Given the description of an element on the screen output the (x, y) to click on. 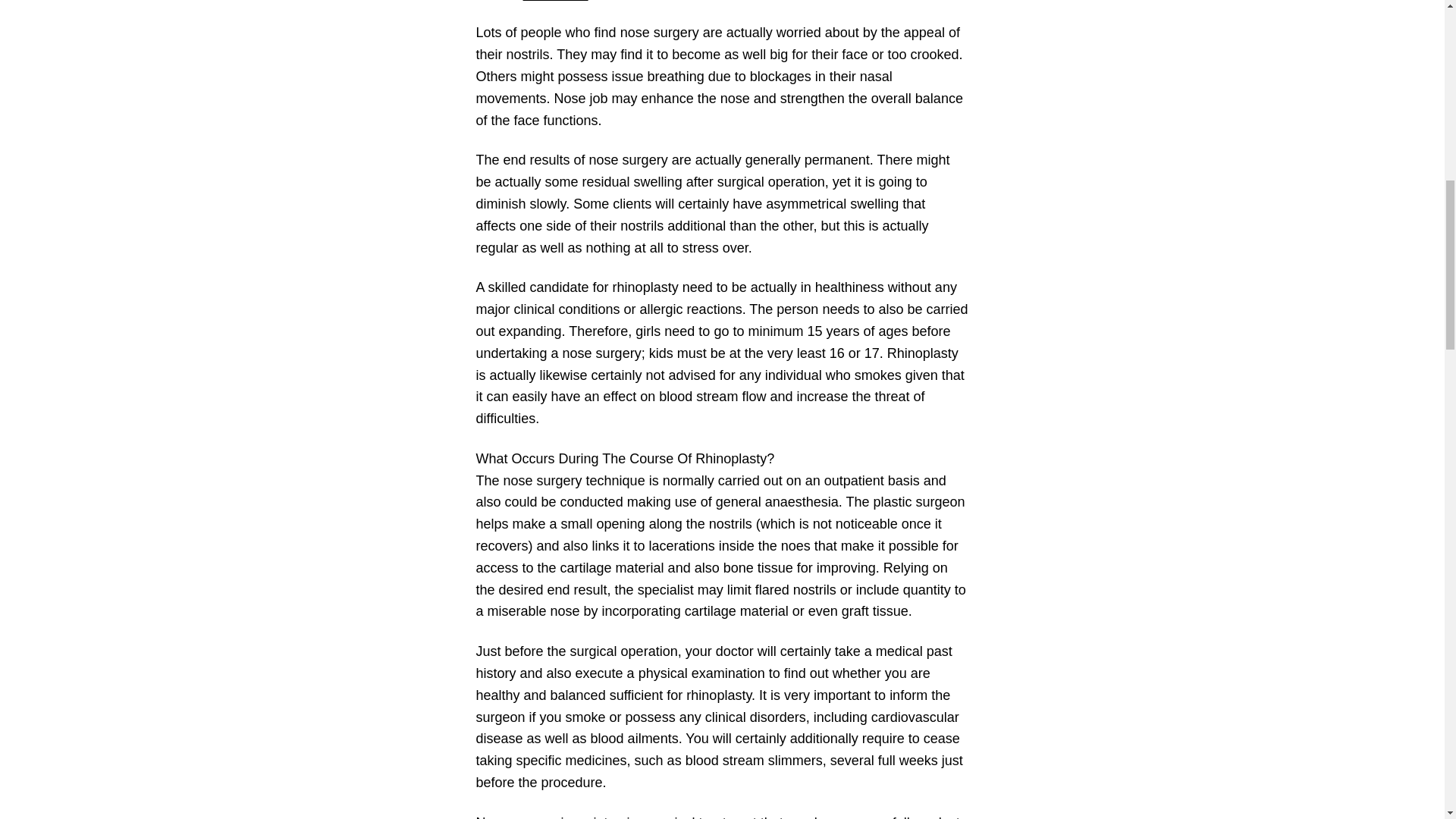
Dr. Jacono (555, 0)
